Given the description of an element on the screen output the (x, y) to click on. 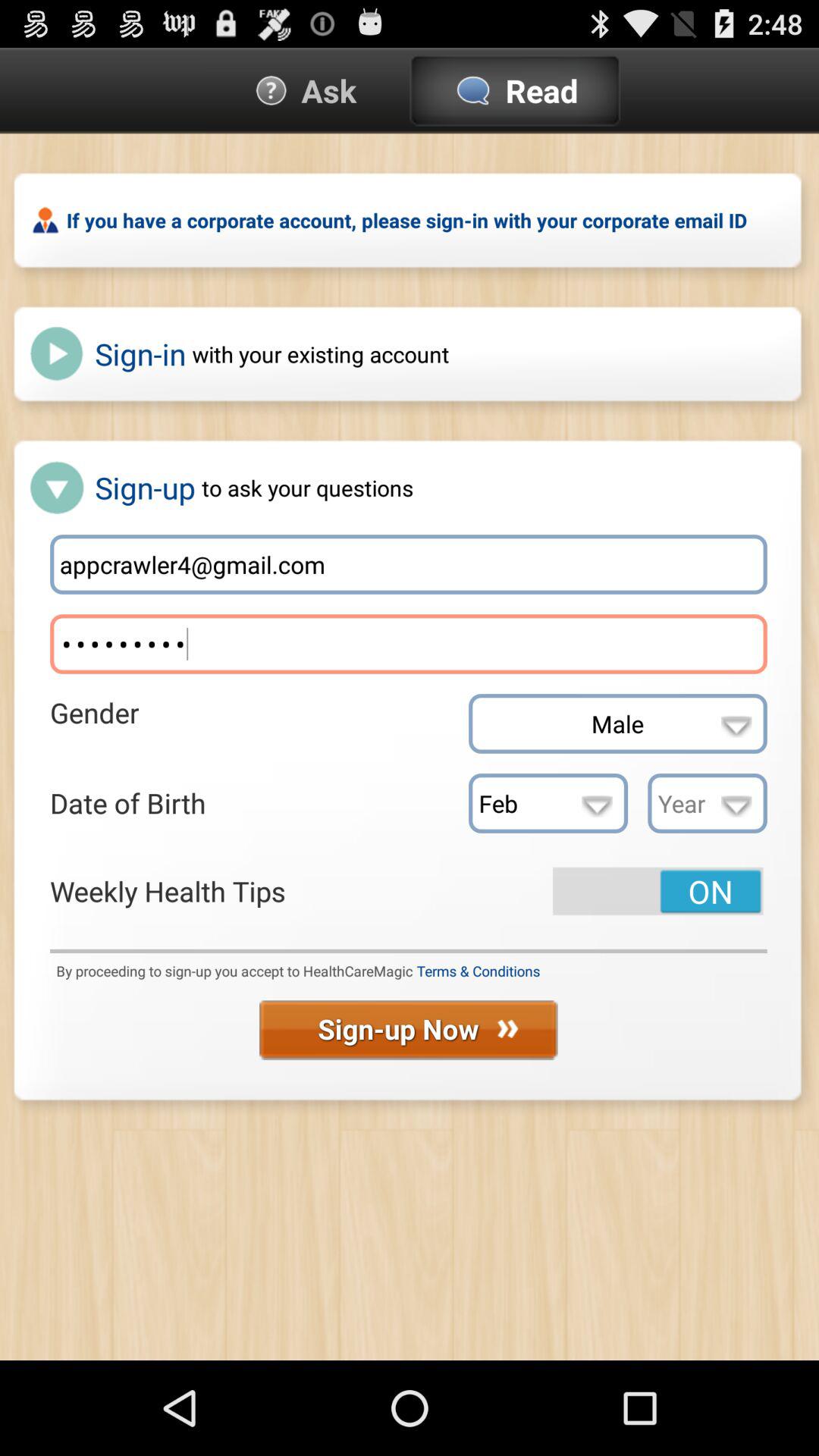
select year (707, 803)
